Given the description of an element on the screen output the (x, y) to click on. 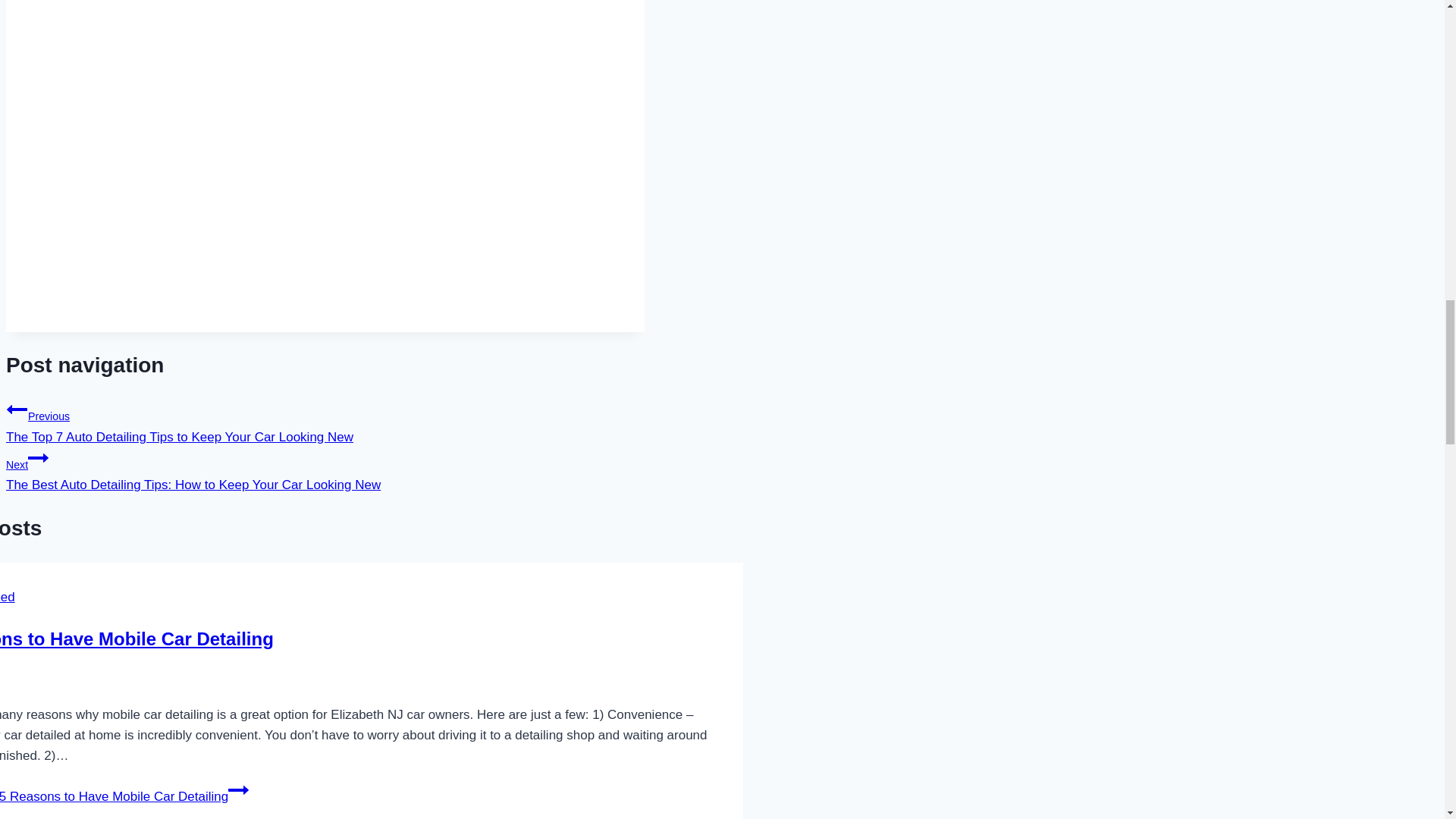
Uncategorized (7, 596)
Continue (37, 457)
5 Reasons to Have Mobile Car Detailing (136, 638)
Previous (16, 409)
Continue (238, 789)
Read More 5 Reasons to Have Mobile Car DetailingContinue (124, 796)
